Given the description of an element on the screen output the (x, y) to click on. 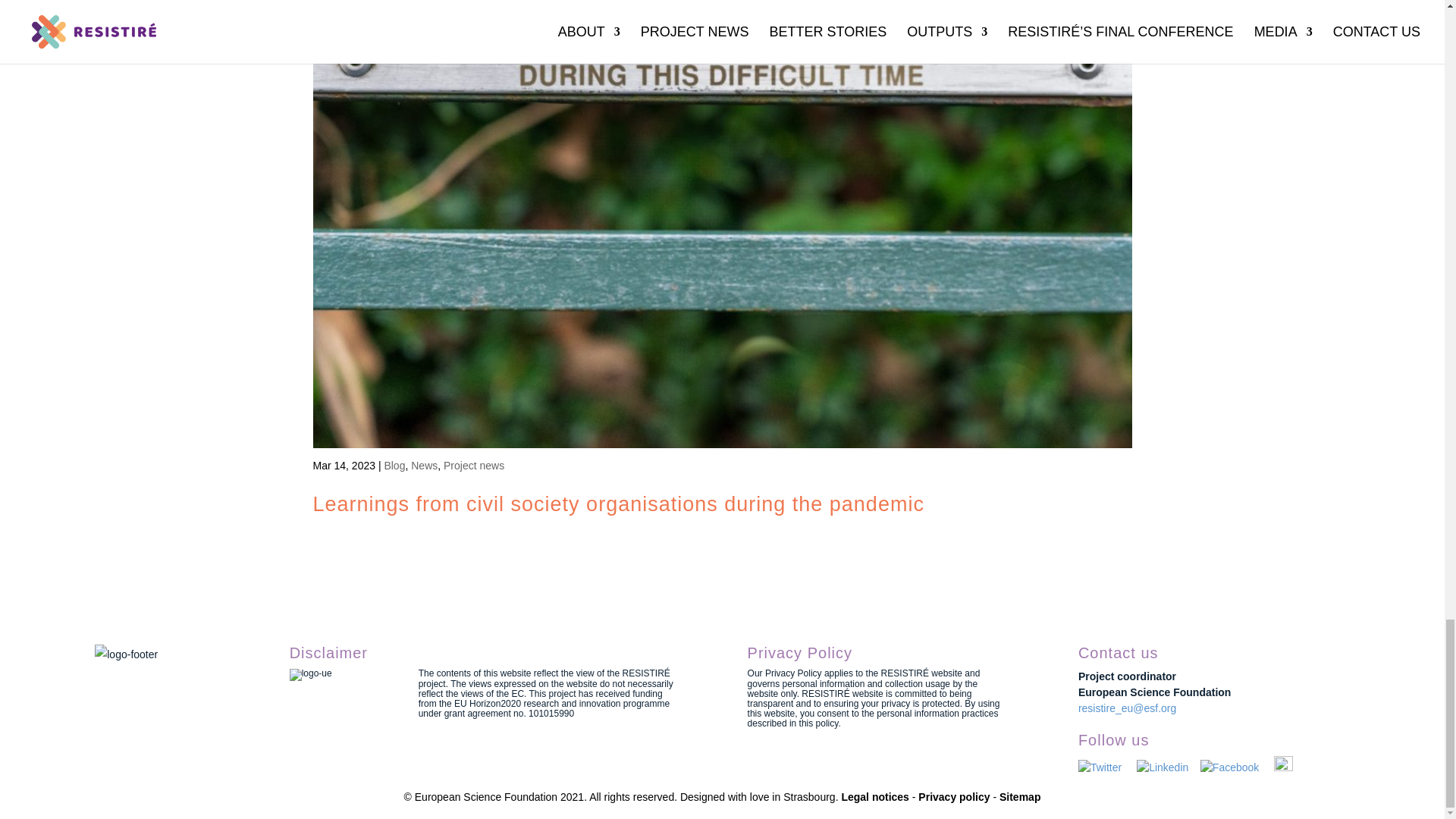
Privacy policy (954, 797)
Sitemap (1019, 797)
Twitter (1107, 767)
News (424, 465)
Project news (473, 465)
Blog (394, 465)
Legal notices (874, 797)
